Given the description of an element on the screen output the (x, y) to click on. 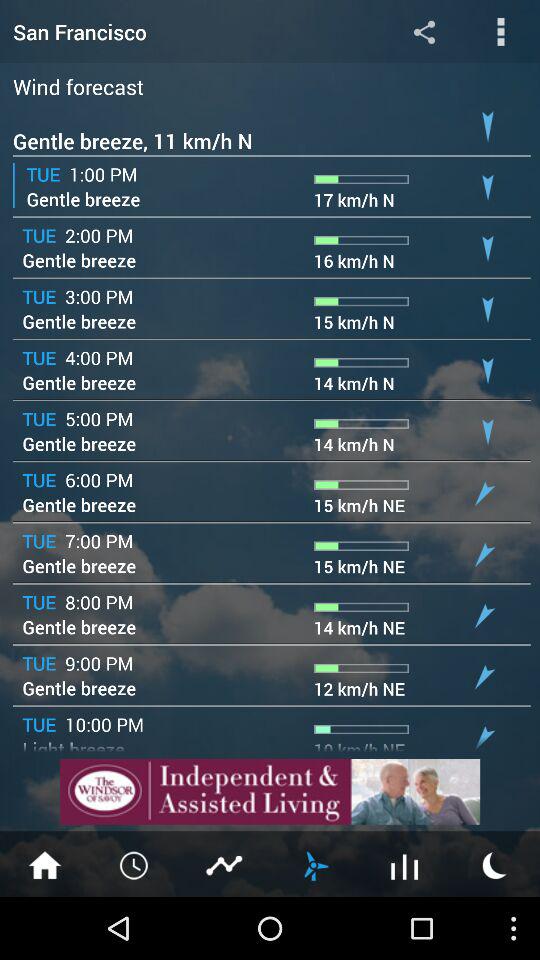
home page (45, 864)
